Given the description of an element on the screen output the (x, y) to click on. 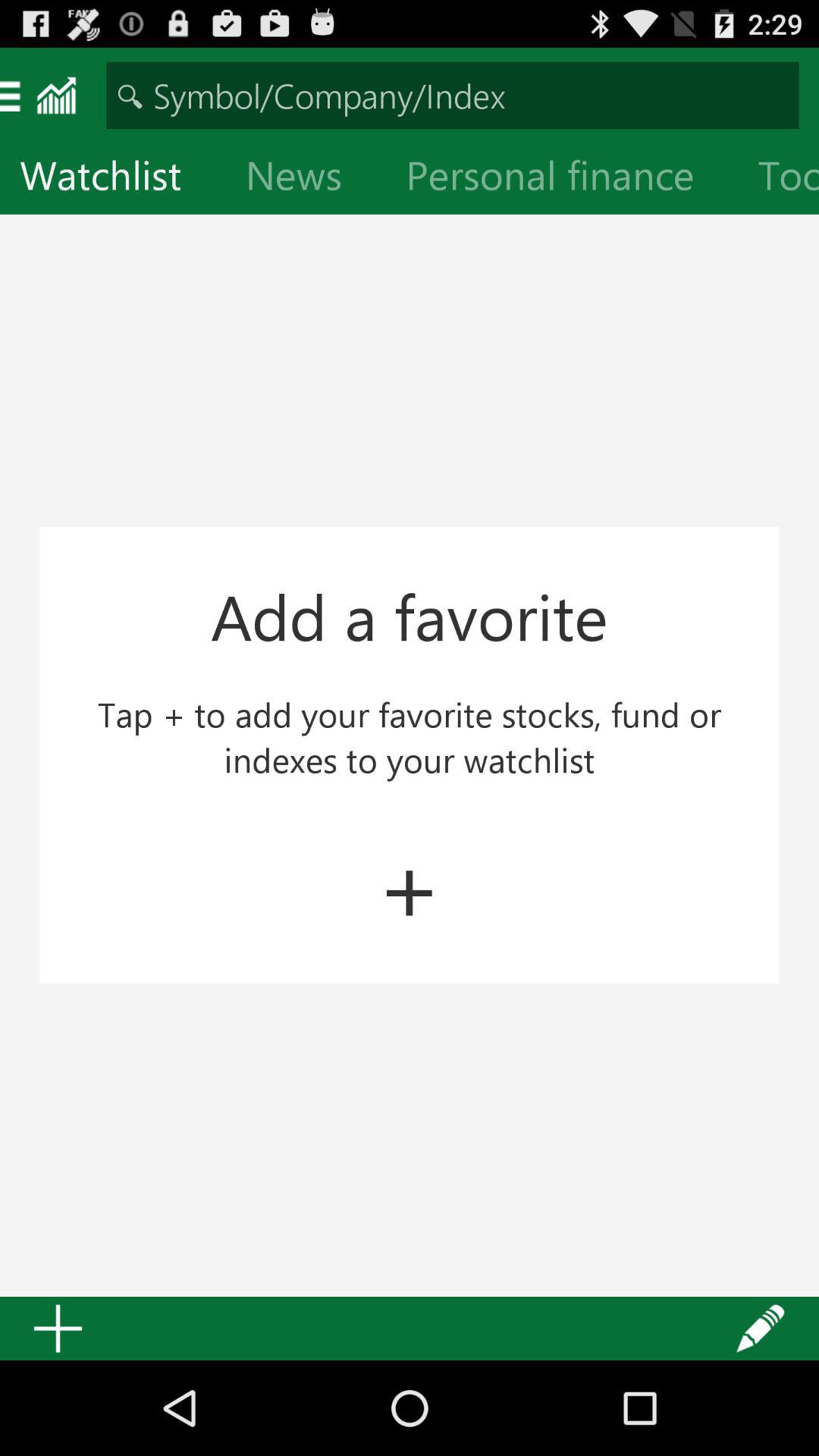
turn on the item above watchlist icon (452, 95)
